Given the description of an element on the screen output the (x, y) to click on. 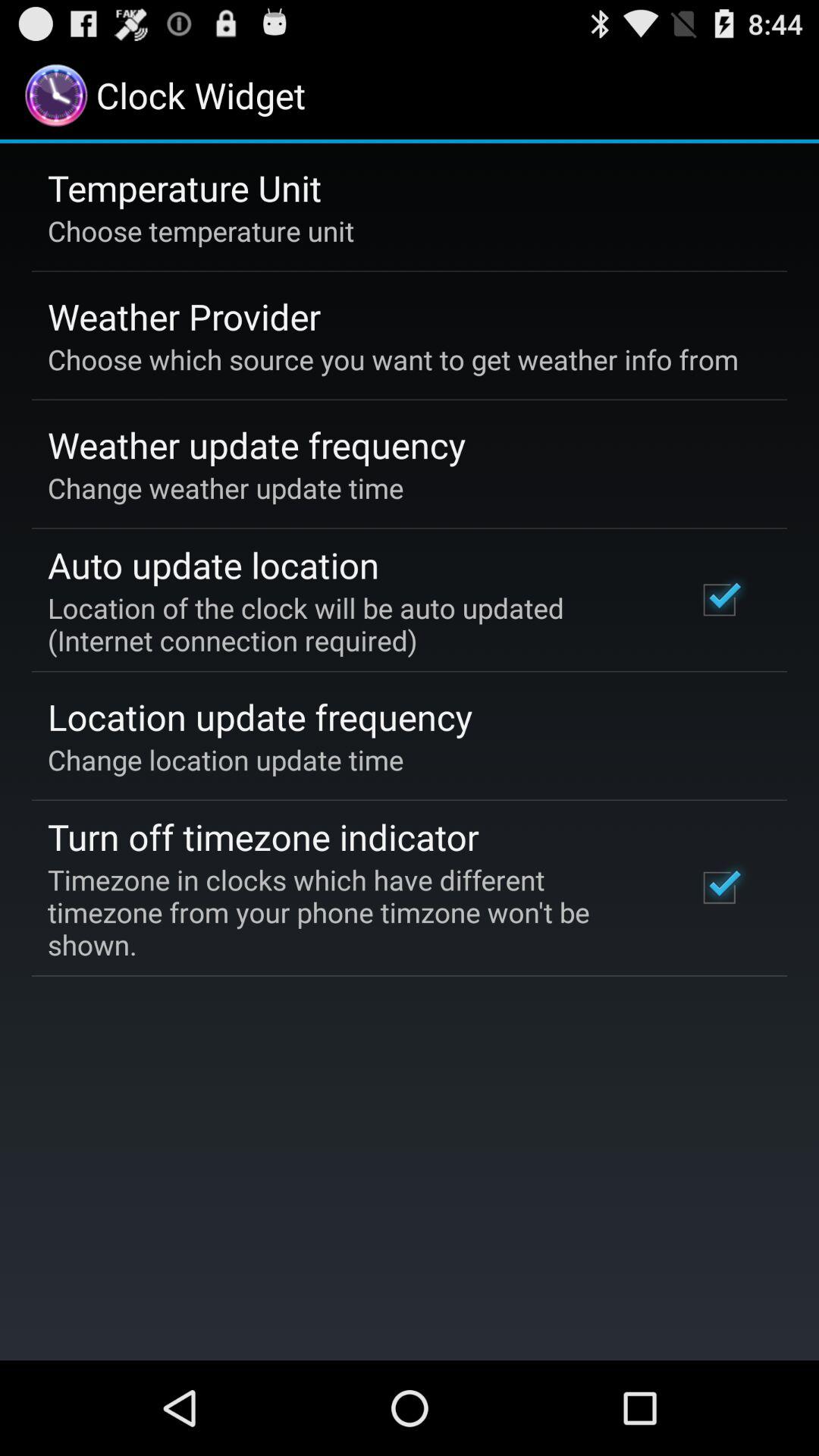
select the item above the weather update frequency (392, 359)
